Given the description of an element on the screen output the (x, y) to click on. 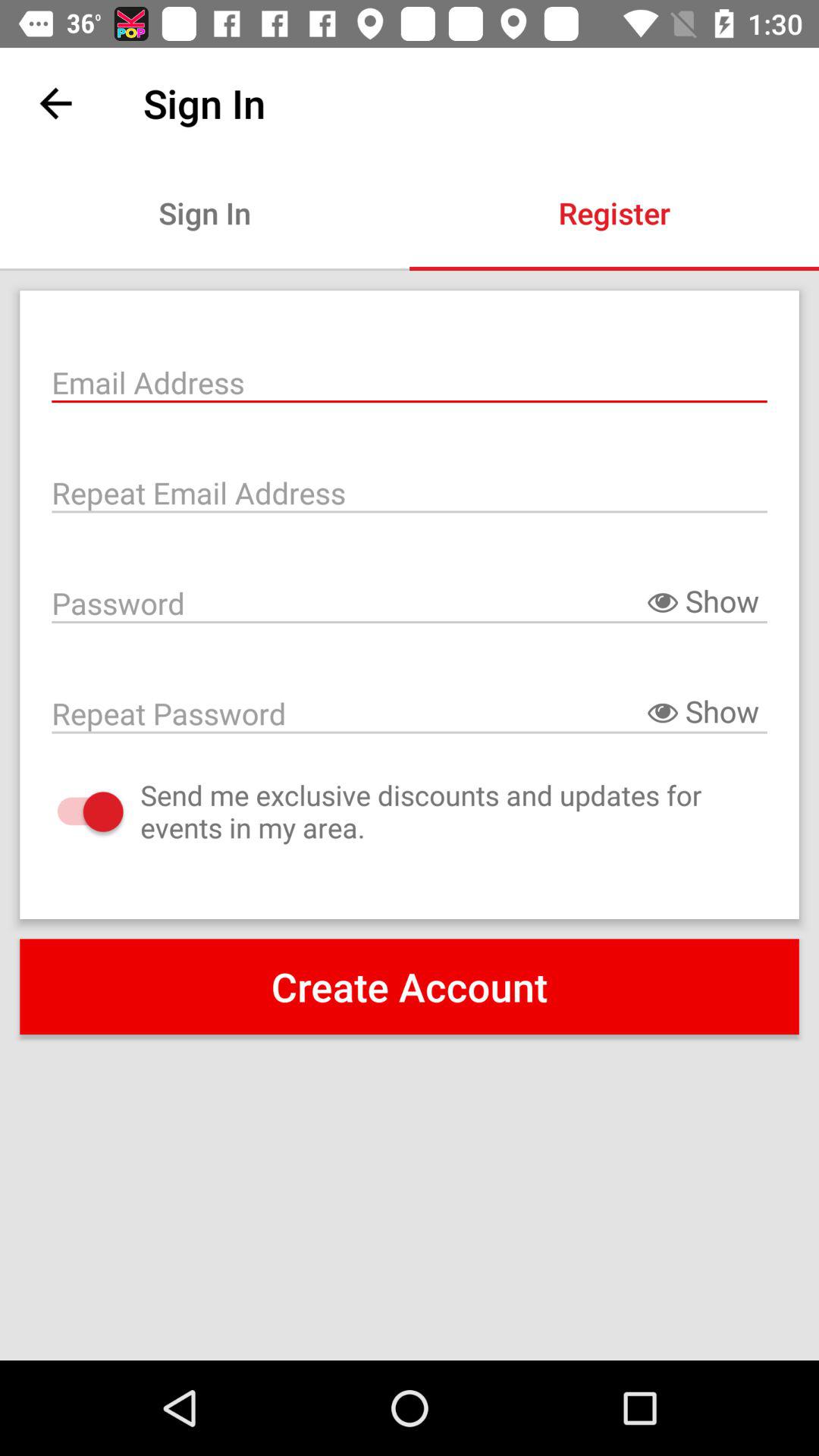
click the icon next to sign in (55, 103)
